Given the description of an element on the screen output the (x, y) to click on. 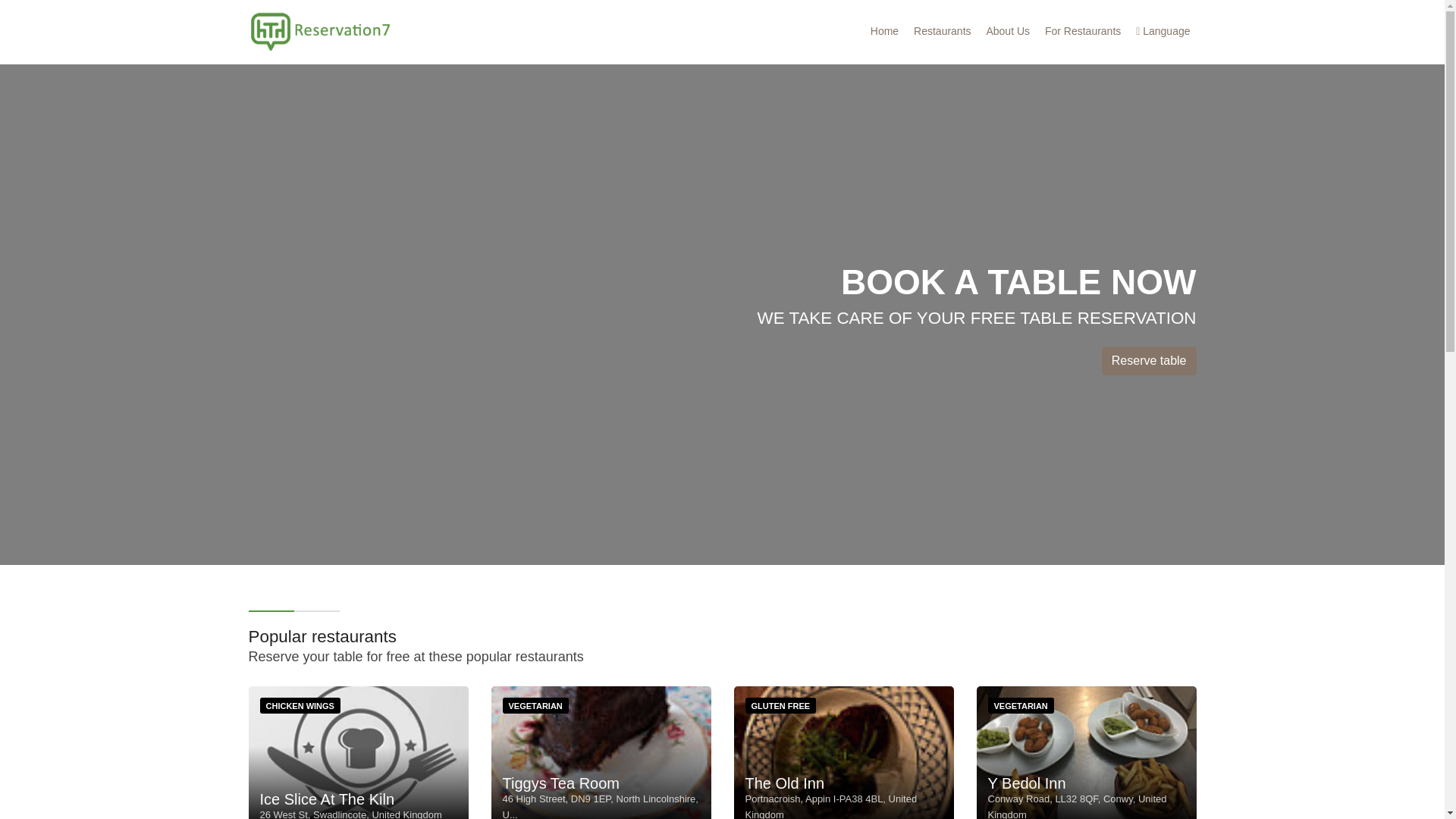
About Us (1007, 31)
Reserve table (1149, 360)
Language (1162, 31)
Restaurants (941, 31)
For Restaurants (1082, 31)
Home (884, 31)
